Given the description of an element on the screen output the (x, y) to click on. 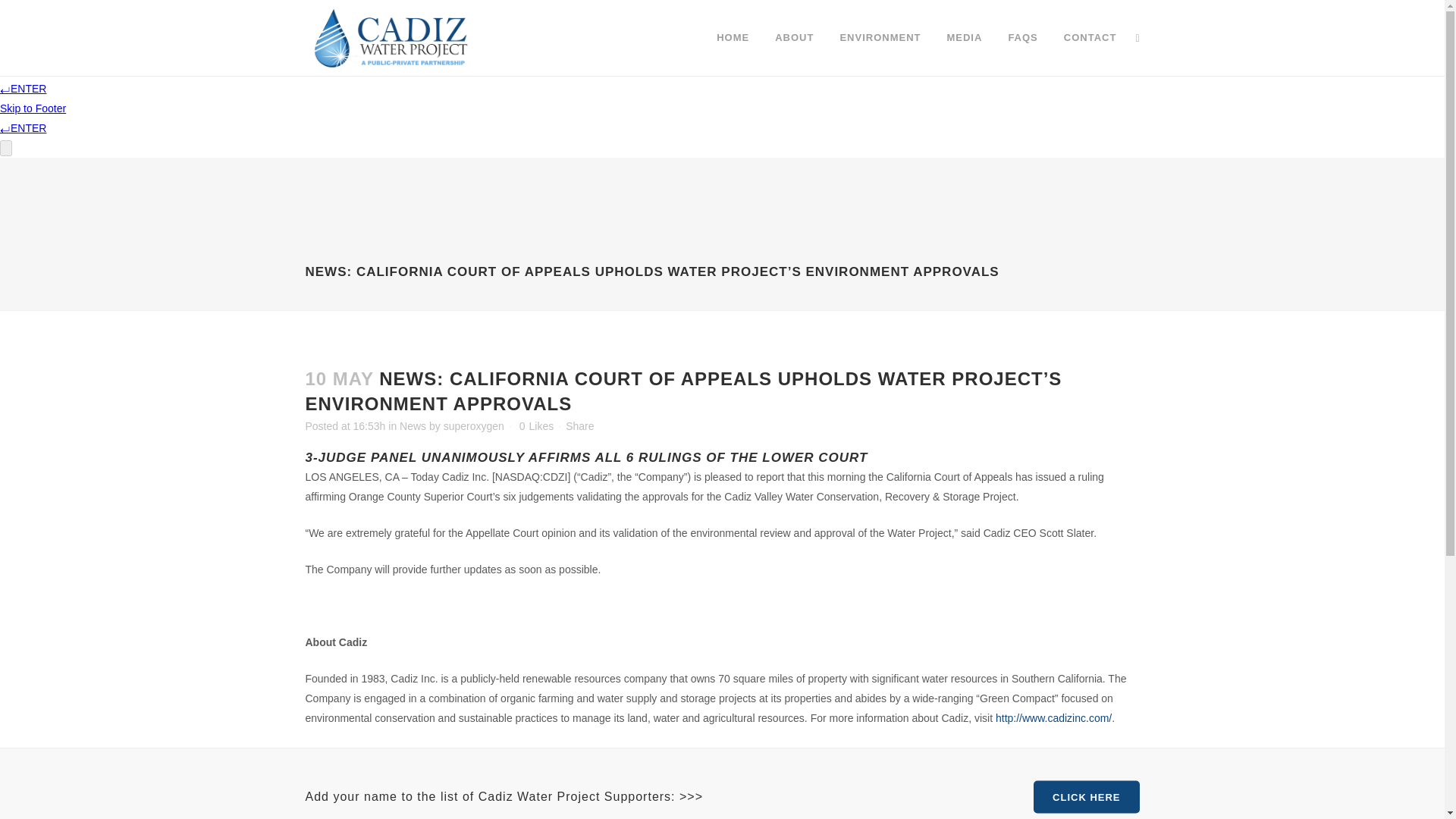
ENVIRONMENT (880, 38)
CONTACT (1090, 38)
Like this (536, 425)
